Given the description of an element on the screen output the (x, y) to click on. 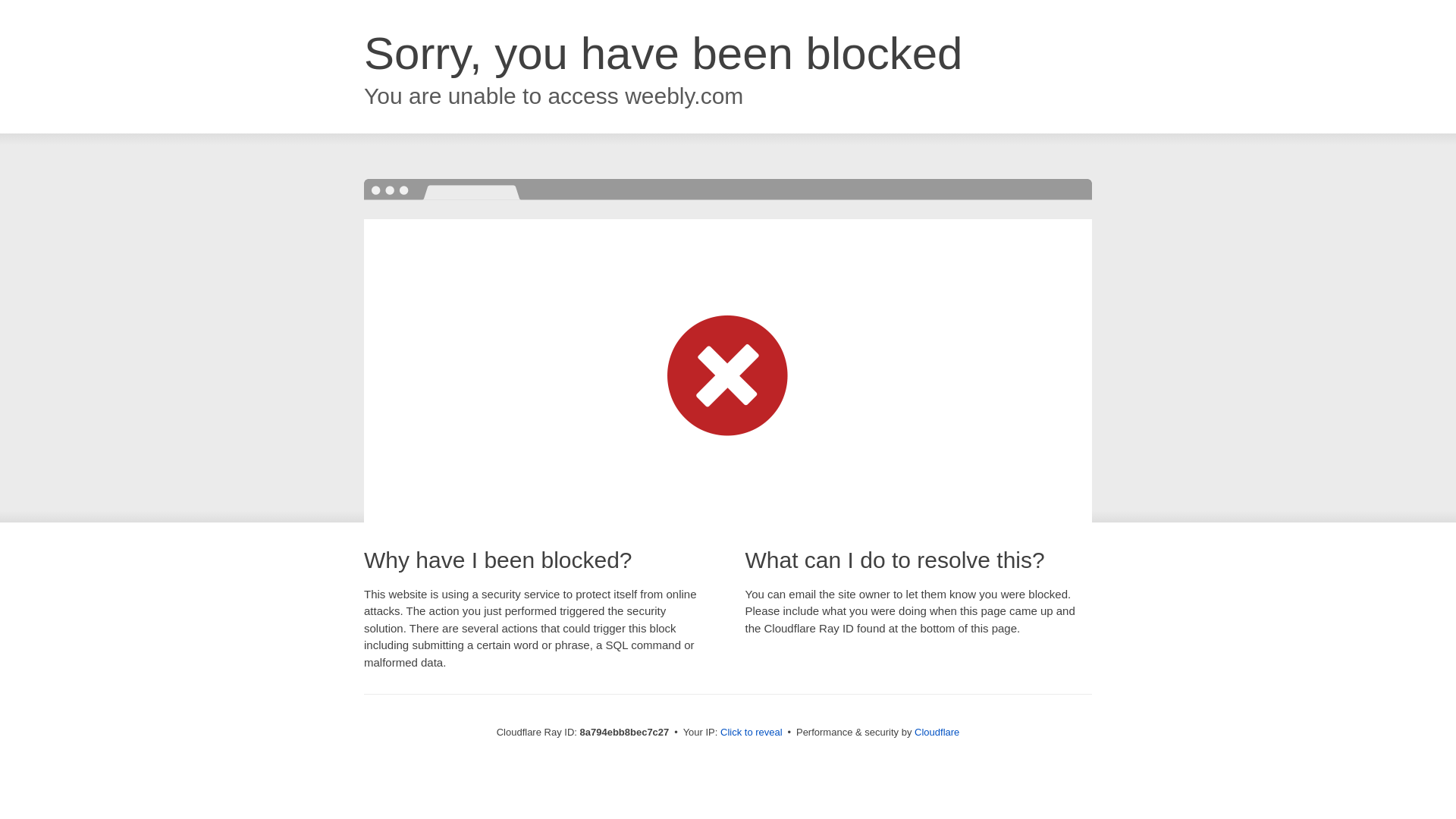
Click to reveal (751, 732)
Cloudflare (936, 731)
